Given the description of an element on the screen output the (x, y) to click on. 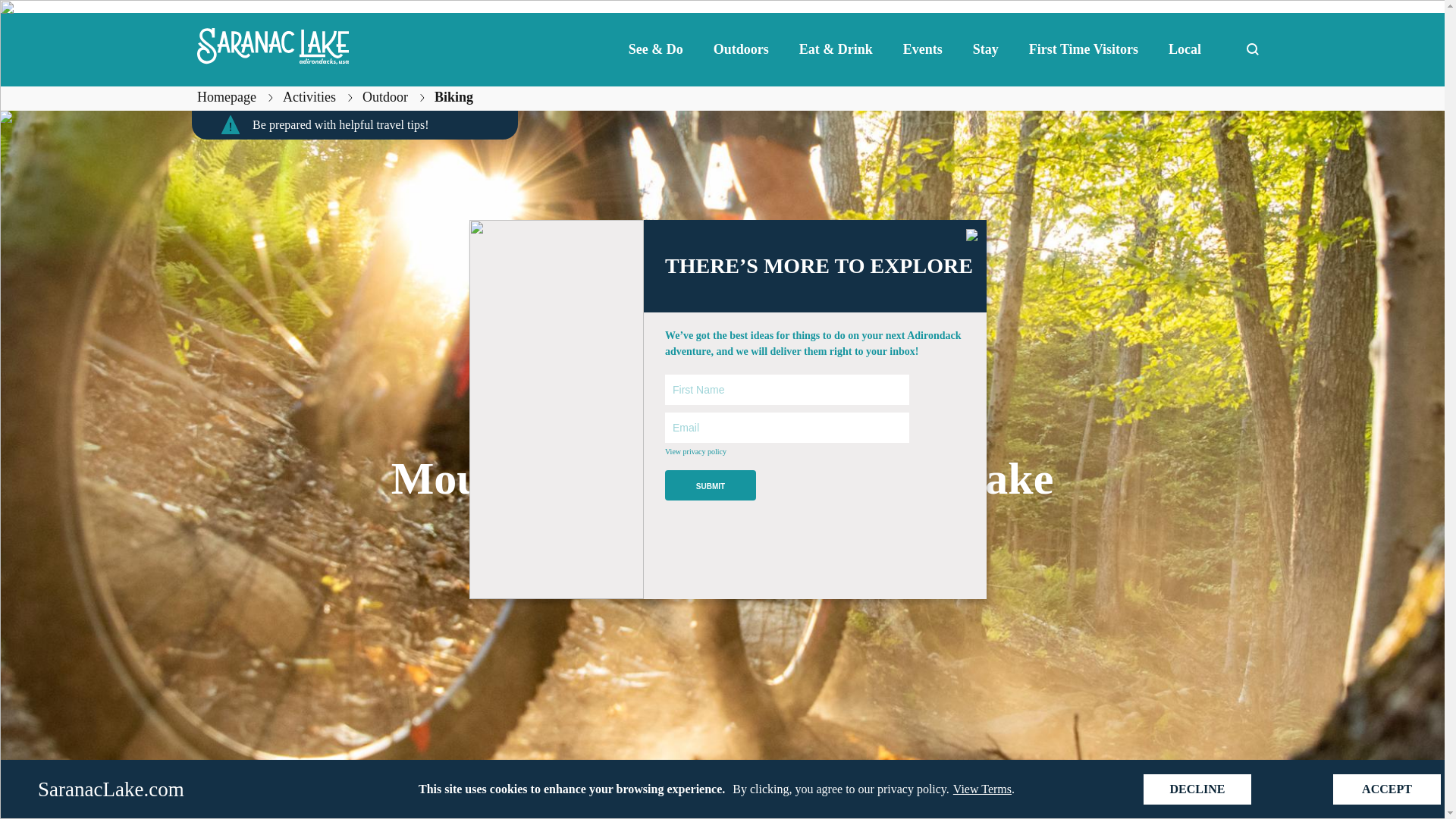
Outdoors (741, 48)
Submit (710, 485)
